Given the description of an element on the screen output the (x, y) to click on. 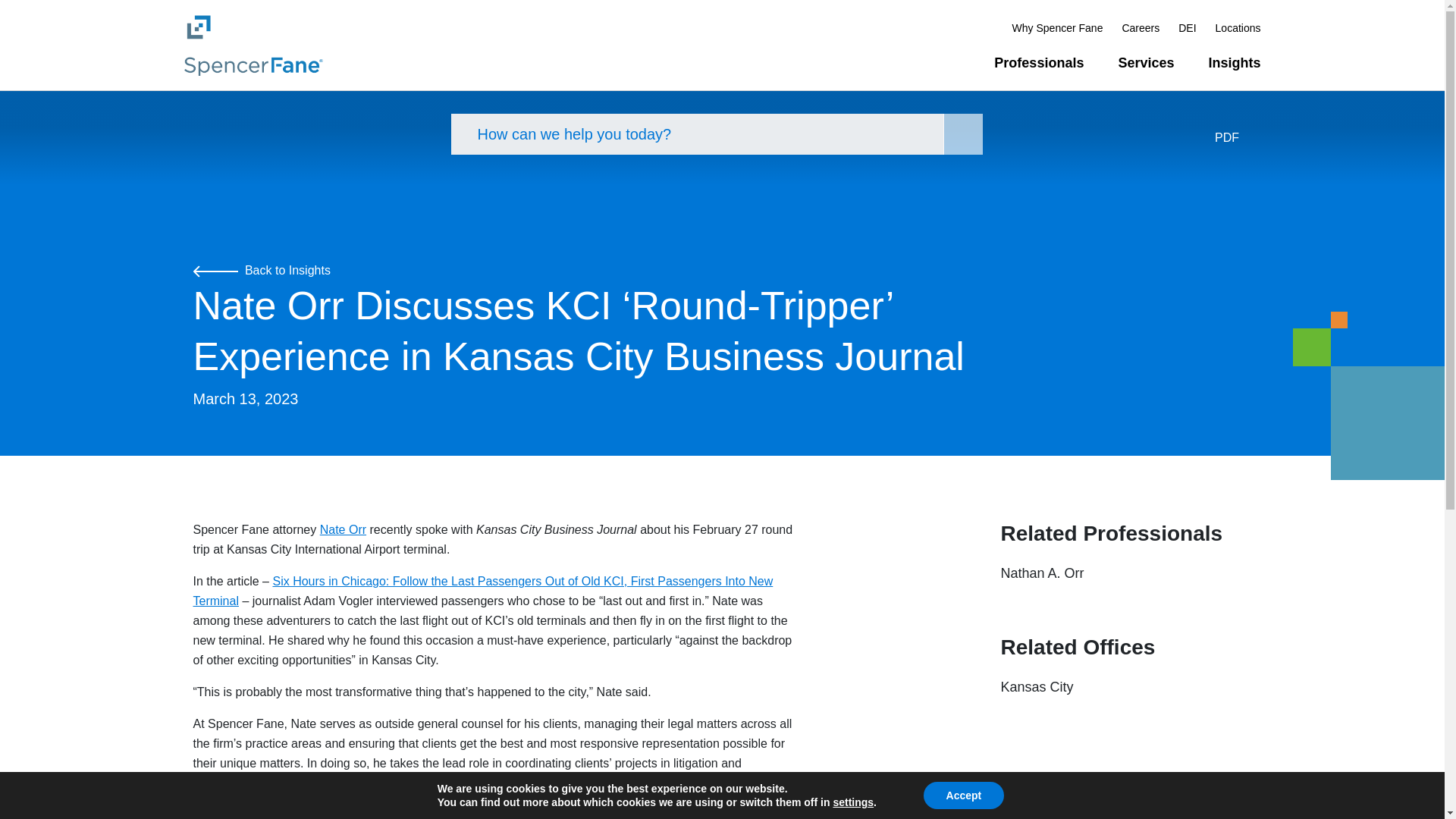
Kansas City (1037, 686)
Insights (1234, 62)
Back to Insights (261, 269)
Spencer Fane (252, 44)
Nathan A. Orr (1042, 572)
Locations (1237, 27)
Services (1145, 62)
PDF (1237, 137)
Search (962, 133)
